Given the description of an element on the screen output the (x, y) to click on. 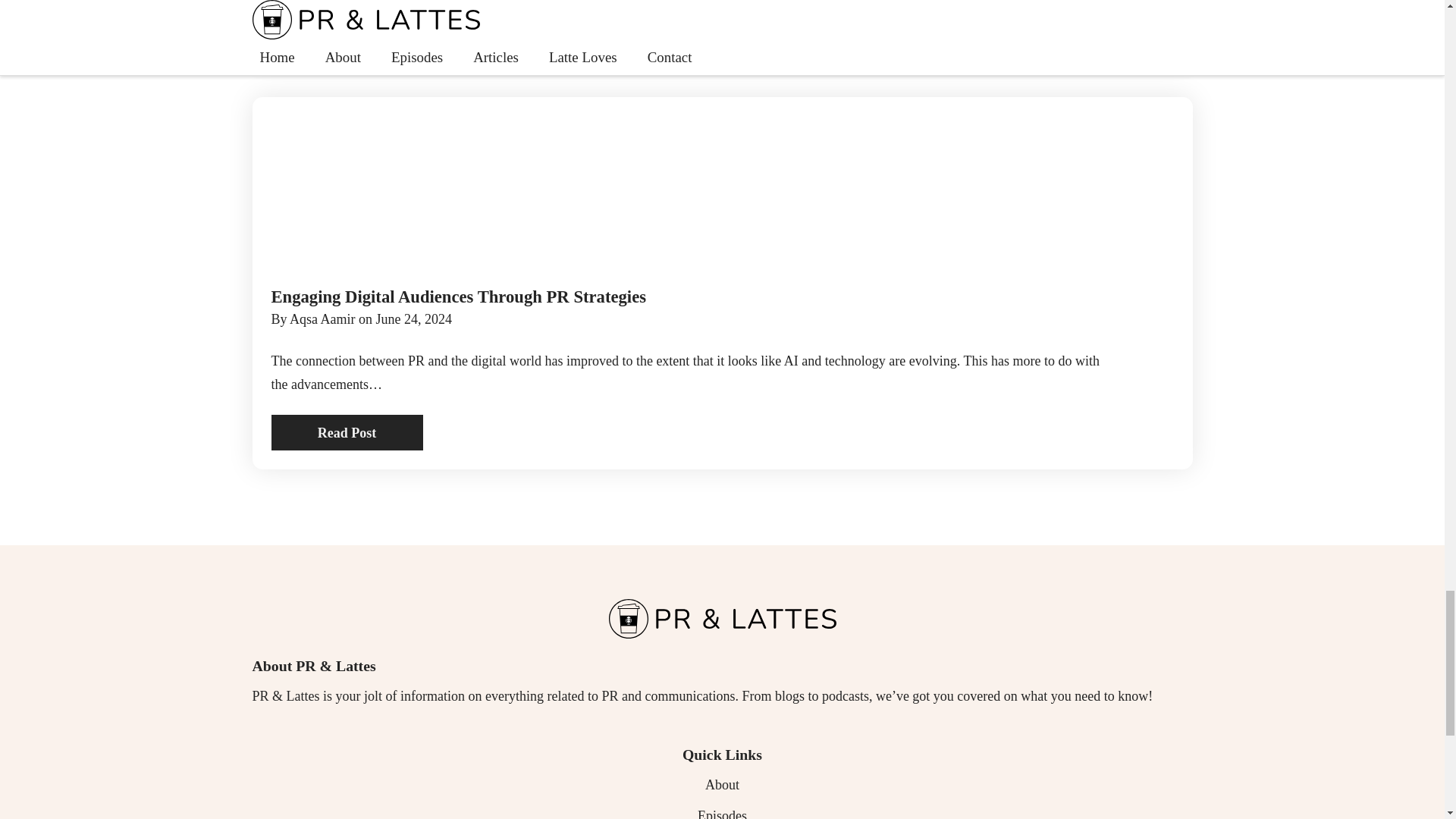
About (721, 784)
Episodes (721, 811)
